Given the description of an element on the screen output the (x, y) to click on. 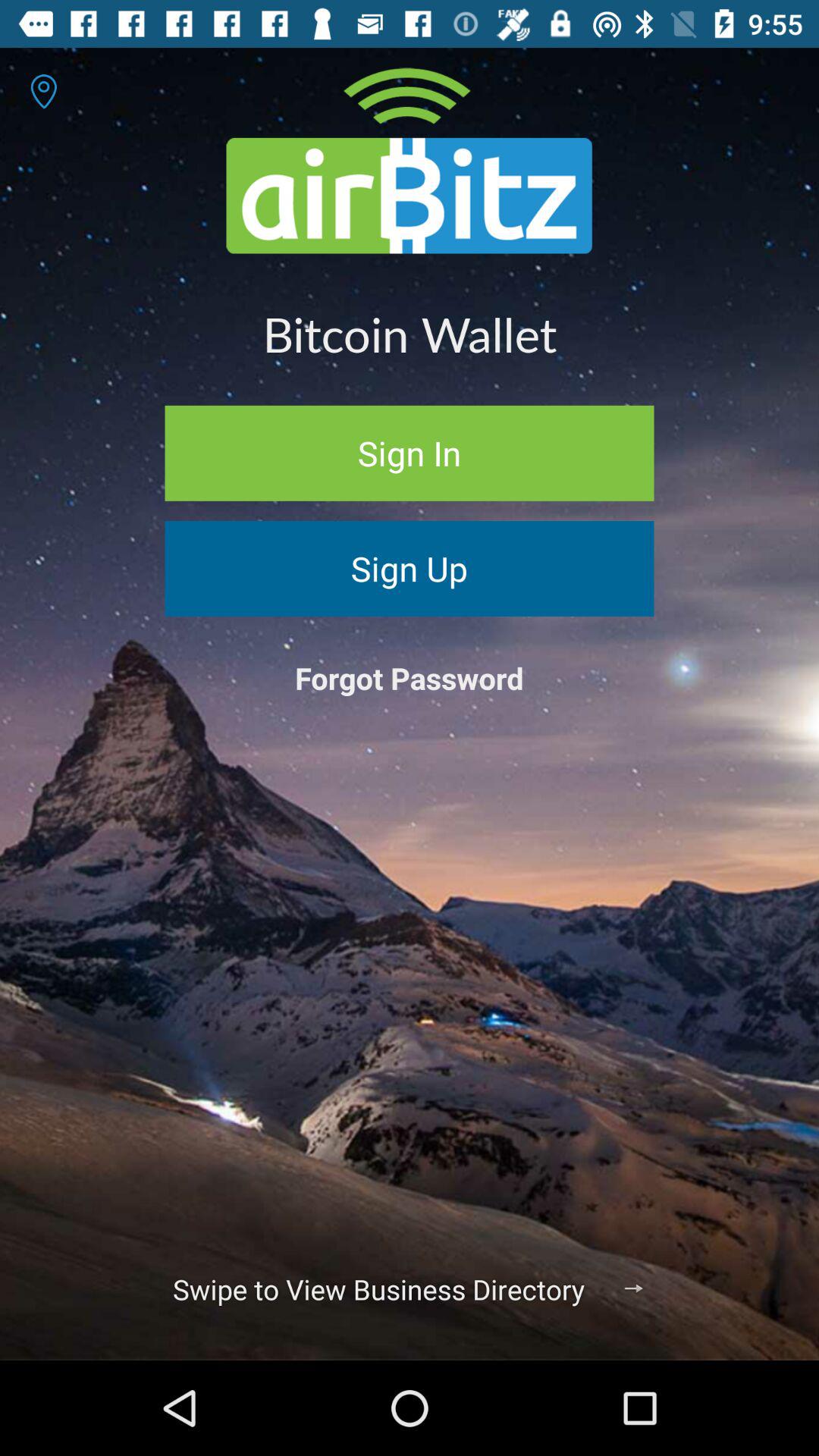
press the sign in item (409, 453)
